Given the description of an element on the screen output the (x, y) to click on. 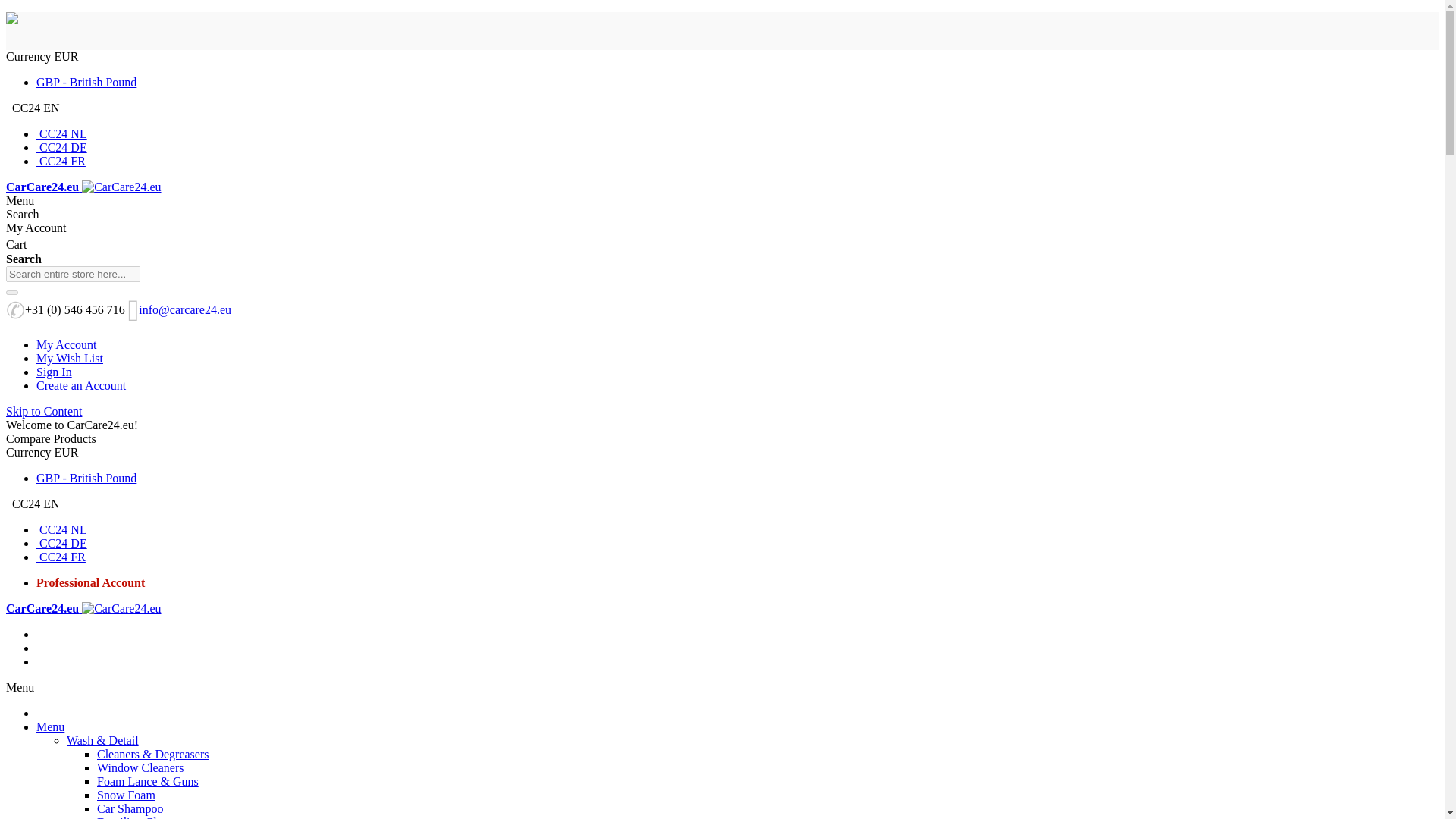
Skip to Content (43, 410)
 CC24 FR (60, 556)
 CC24 DE (61, 543)
 CC24 FR (60, 160)
Window Cleaners (140, 767)
Snow Foam (126, 794)
Language (32, 503)
CarCare24.eu (83, 608)
Menu (50, 726)
Compare Products (50, 438)
